Given the description of an element on the screen output the (x, y) to click on. 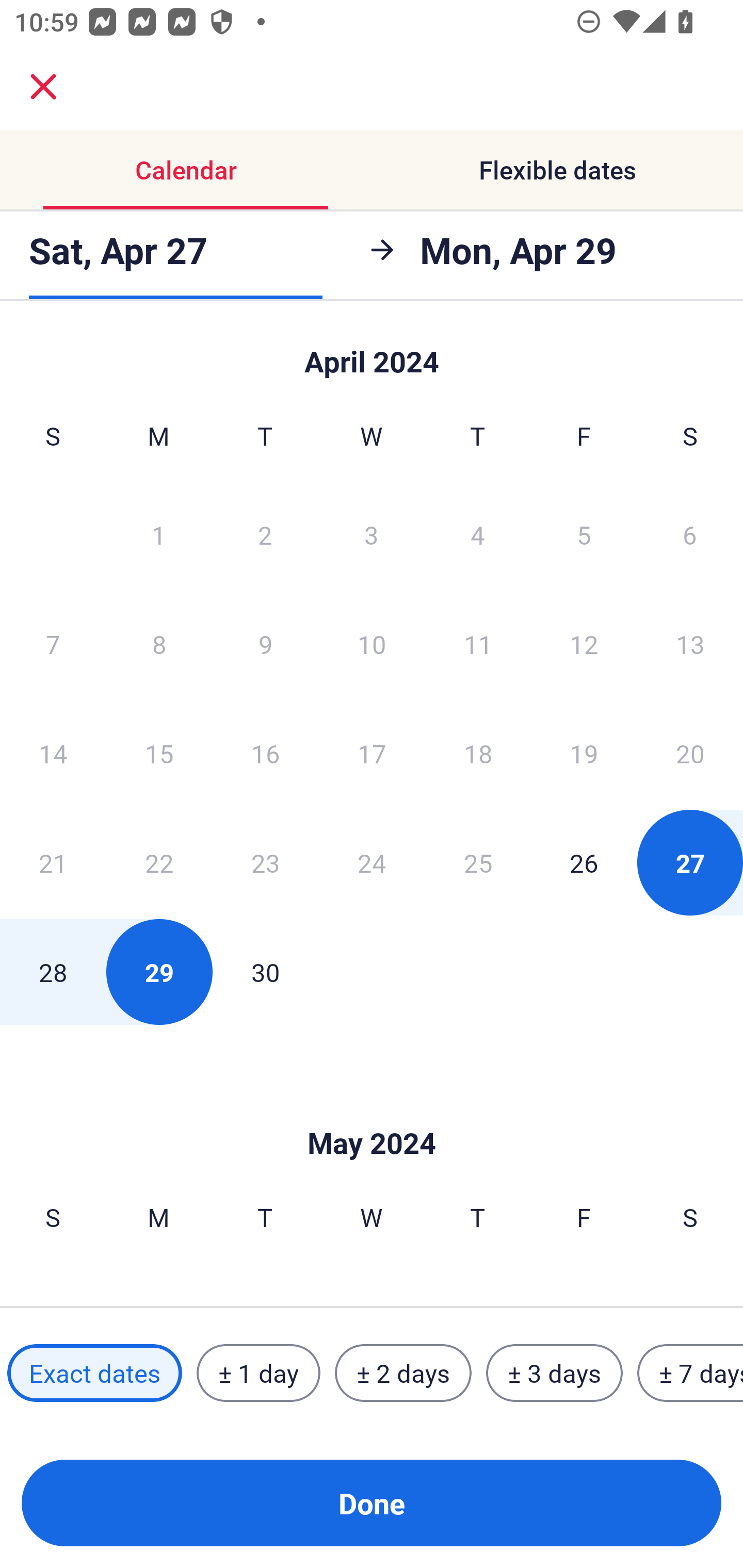
close. (43, 86)
Flexible dates (557, 170)
Skip to Done (371, 352)
1 Monday, April 1, 2024 (158, 534)
2 Tuesday, April 2, 2024 (264, 534)
3 Wednesday, April 3, 2024 (371, 534)
4 Thursday, April 4, 2024 (477, 534)
5 Friday, April 5, 2024 (583, 534)
6 Saturday, April 6, 2024 (689, 534)
7 Sunday, April 7, 2024 (53, 643)
8 Monday, April 8, 2024 (159, 643)
9 Tuesday, April 9, 2024 (265, 643)
10 Wednesday, April 10, 2024 (371, 643)
11 Thursday, April 11, 2024 (477, 643)
12 Friday, April 12, 2024 (584, 643)
13 Saturday, April 13, 2024 (690, 643)
14 Sunday, April 14, 2024 (53, 752)
15 Monday, April 15, 2024 (159, 752)
16 Tuesday, April 16, 2024 (265, 752)
17 Wednesday, April 17, 2024 (371, 752)
18 Thursday, April 18, 2024 (477, 752)
19 Friday, April 19, 2024 (584, 752)
20 Saturday, April 20, 2024 (690, 752)
21 Sunday, April 21, 2024 (53, 862)
22 Monday, April 22, 2024 (159, 862)
23 Tuesday, April 23, 2024 (265, 862)
24 Wednesday, April 24, 2024 (371, 862)
25 Thursday, April 25, 2024 (477, 862)
26 Friday, April 26, 2024 (584, 862)
30 Tuesday, April 30, 2024 (265, 971)
Skip to Done (371, 1112)
Exact dates (94, 1372)
± 1 day (258, 1372)
± 2 days (403, 1372)
± 3 days (553, 1372)
± 7 days (690, 1372)
Done (371, 1502)
